Given the description of an element on the screen output the (x, y) to click on. 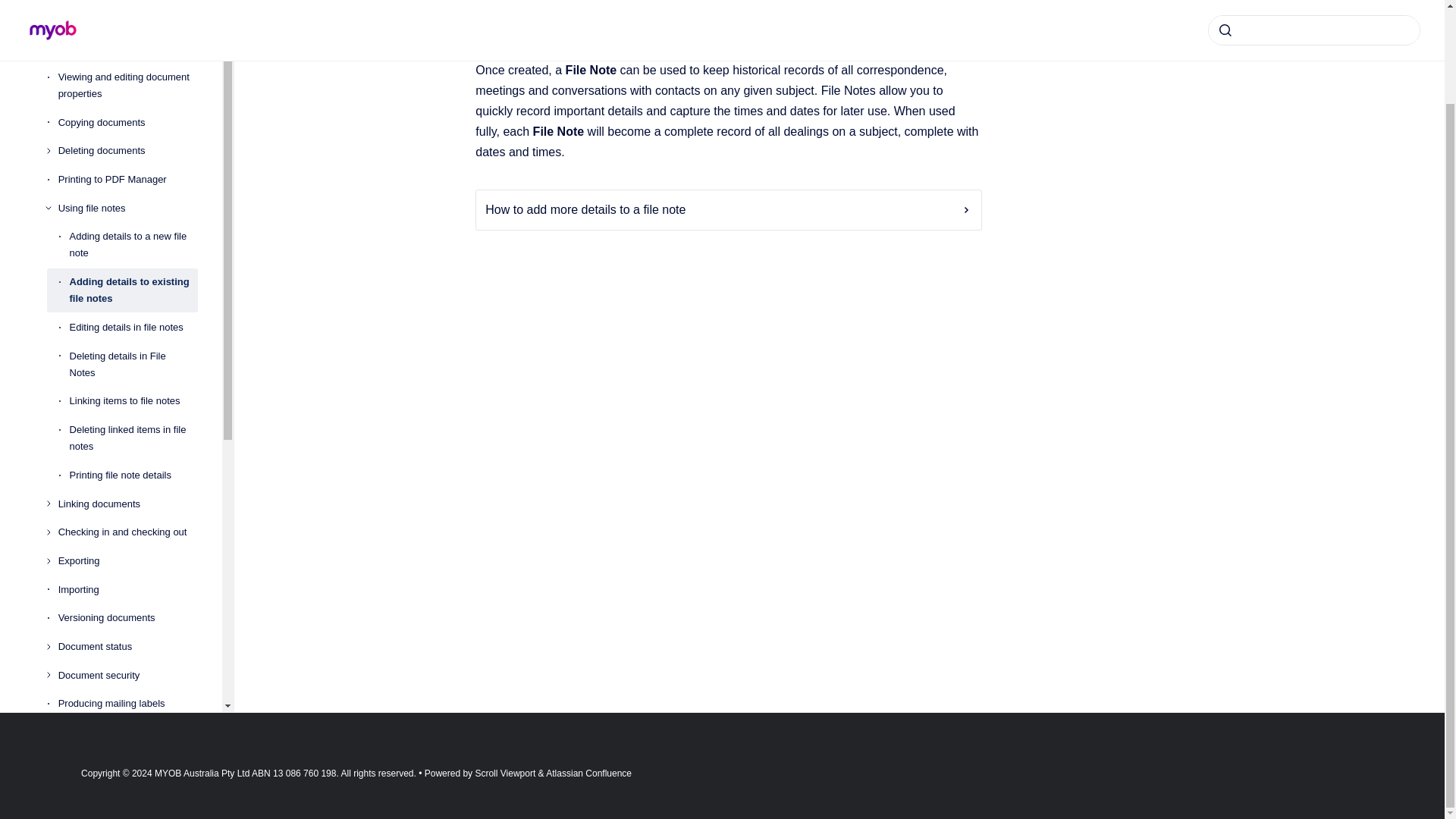
Deleting details in File Notes (133, 364)
Linking documents (128, 503)
Adding details to existing file notes (133, 290)
Using Document Manager (122, 20)
Copying documents (128, 122)
Standard merge fields (122, 2)
Checking in and checking out (128, 532)
Importing (128, 589)
Deleting documents (128, 151)
Linking items to file notes (133, 401)
